Given the description of an element on the screen output the (x, y) to click on. 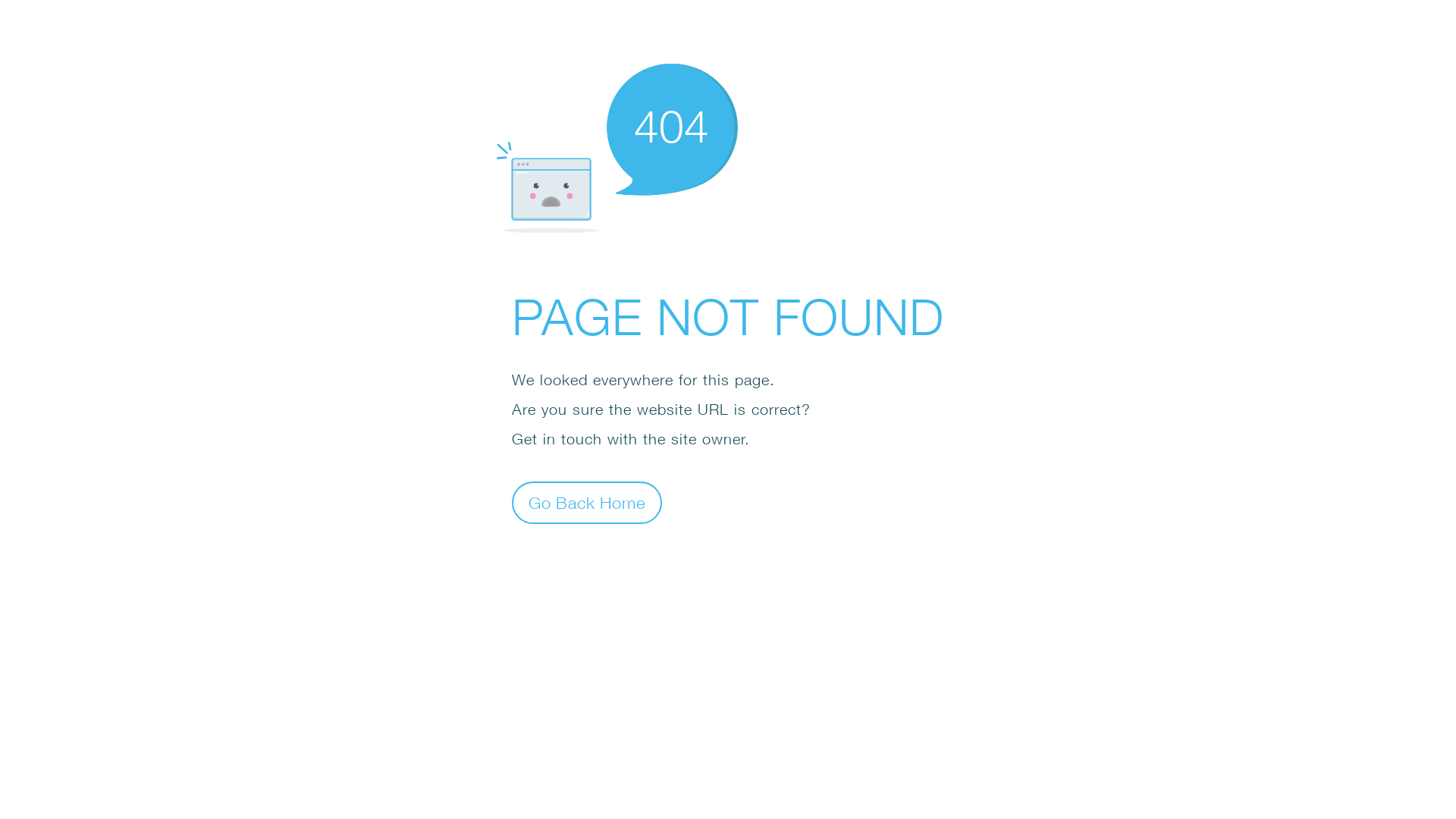
Go Back Home Element type: text (586, 502)
